Given the description of an element on the screen output the (x, y) to click on. 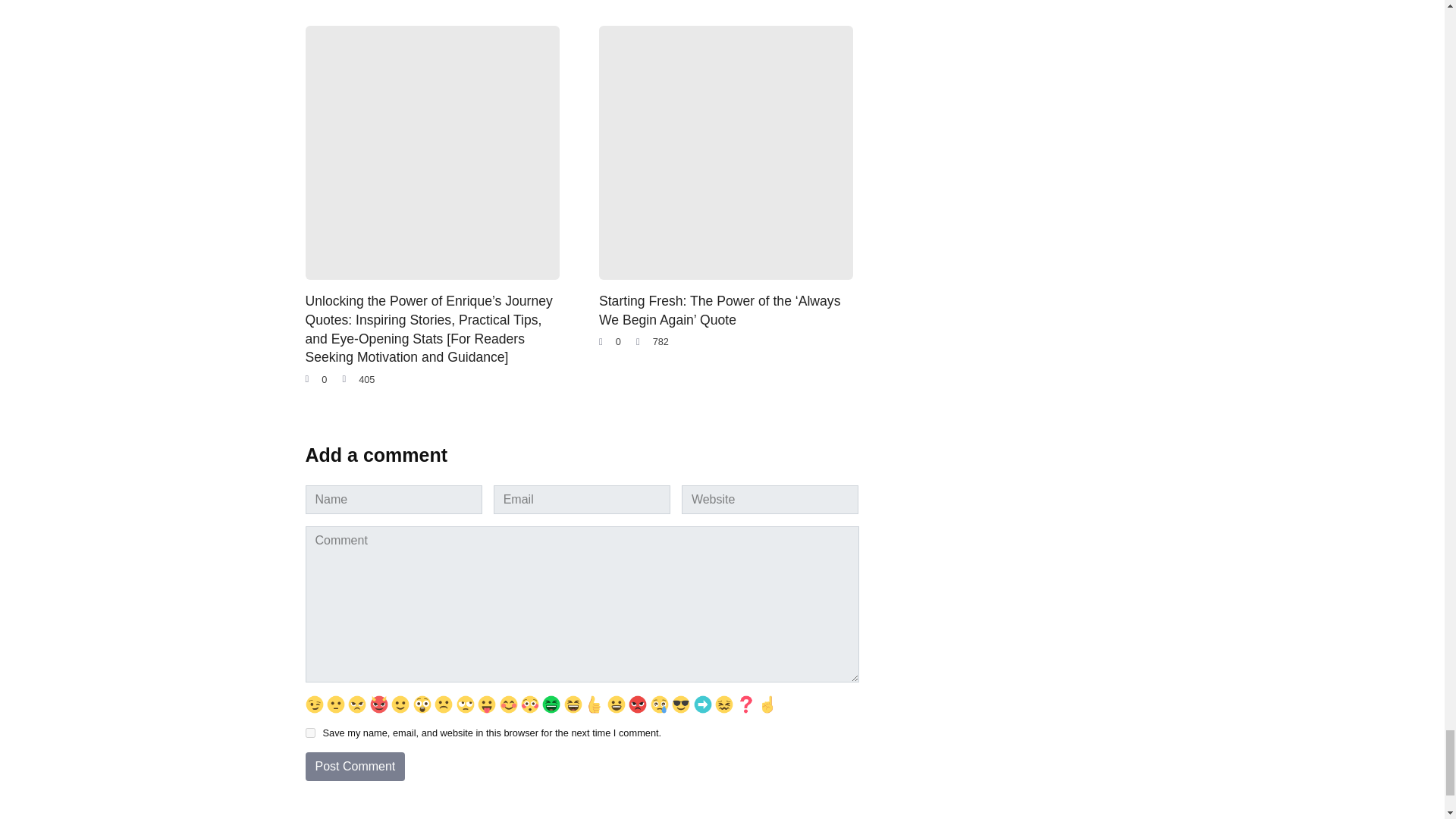
Post Comment (354, 766)
yes (309, 732)
